Given the description of an element on the screen output the (x, y) to click on. 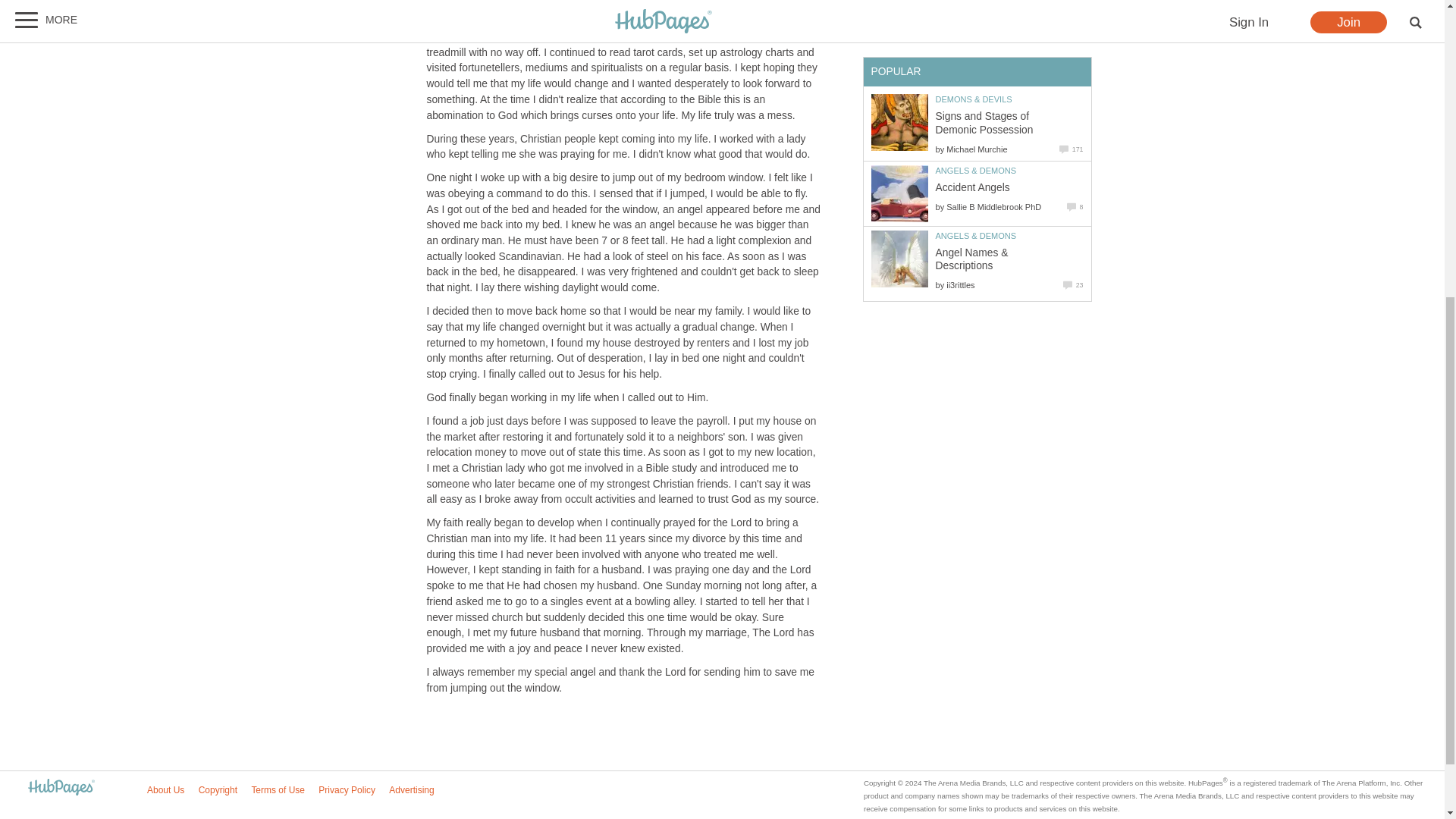
Motherpeace Round Tarot Cards: Suit of Cups (898, 11)
Accident Angels (898, 193)
Signs and Stages of Demonic Possession (898, 122)
To the HubPages home page (60, 787)
